Given the description of an element on the screen output the (x, y) to click on. 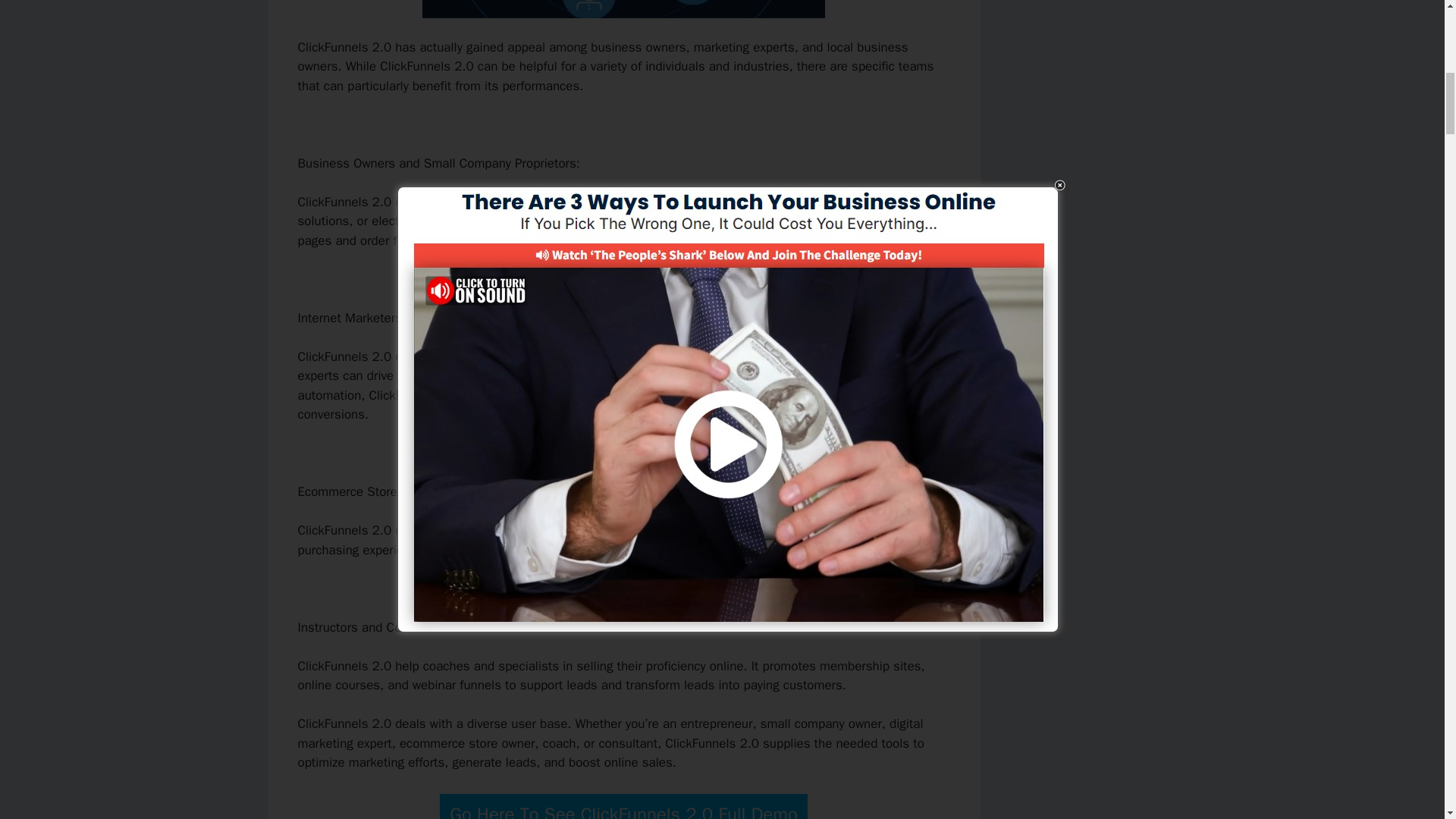
Go Here To See ClickFunnels 2.0 Full Demo (623, 806)
